Given the description of an element on the screen output the (x, y) to click on. 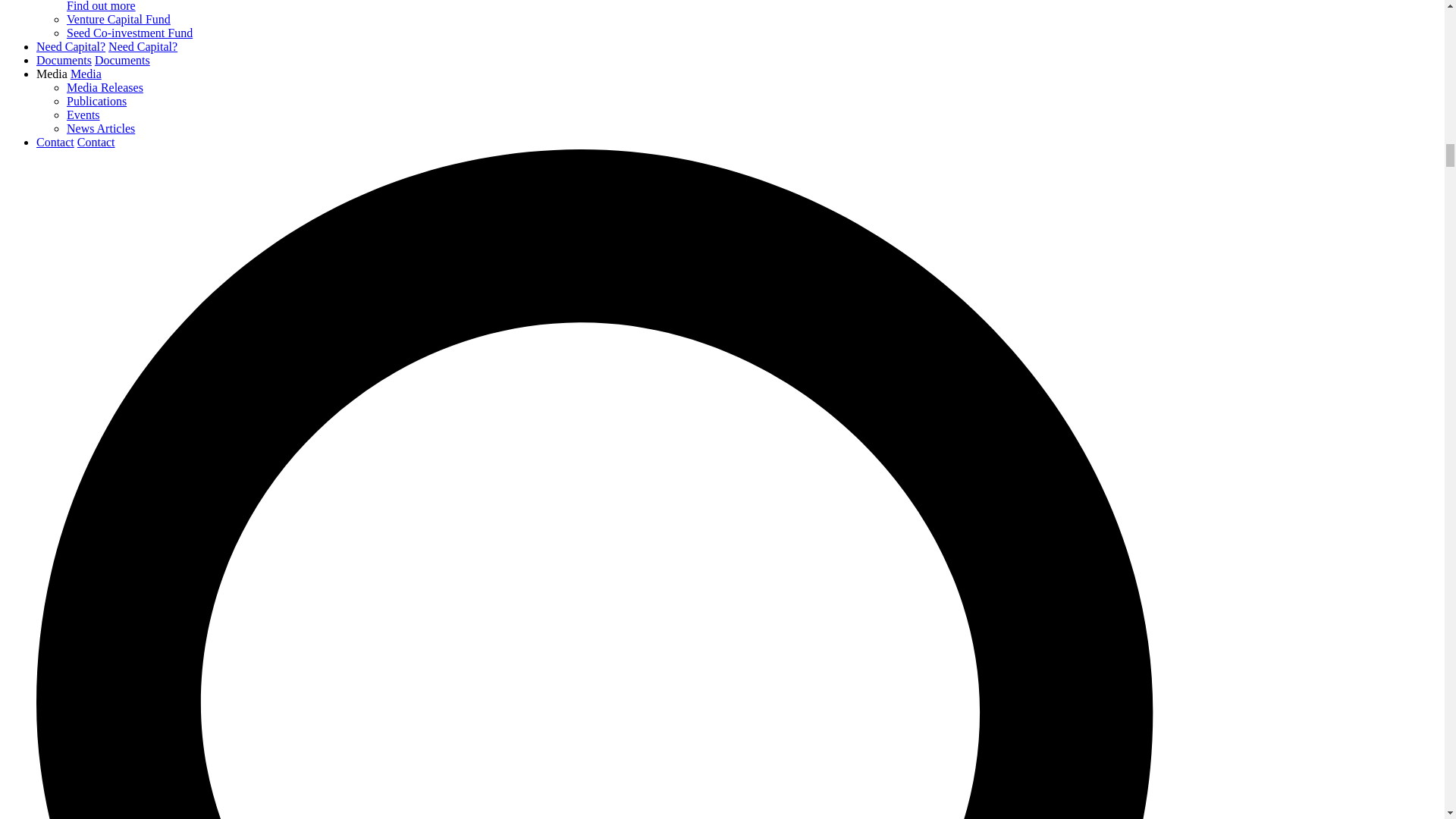
News Articles (100, 128)
Documents (63, 60)
Find out more (100, 6)
Venture Capital Fund (118, 19)
Media (85, 73)
Seed Co-investment Fund (129, 32)
Contact (96, 141)
Need Capital? (70, 46)
Media Releases (104, 87)
Publications (96, 101)
